Given the description of an element on the screen output the (x, y) to click on. 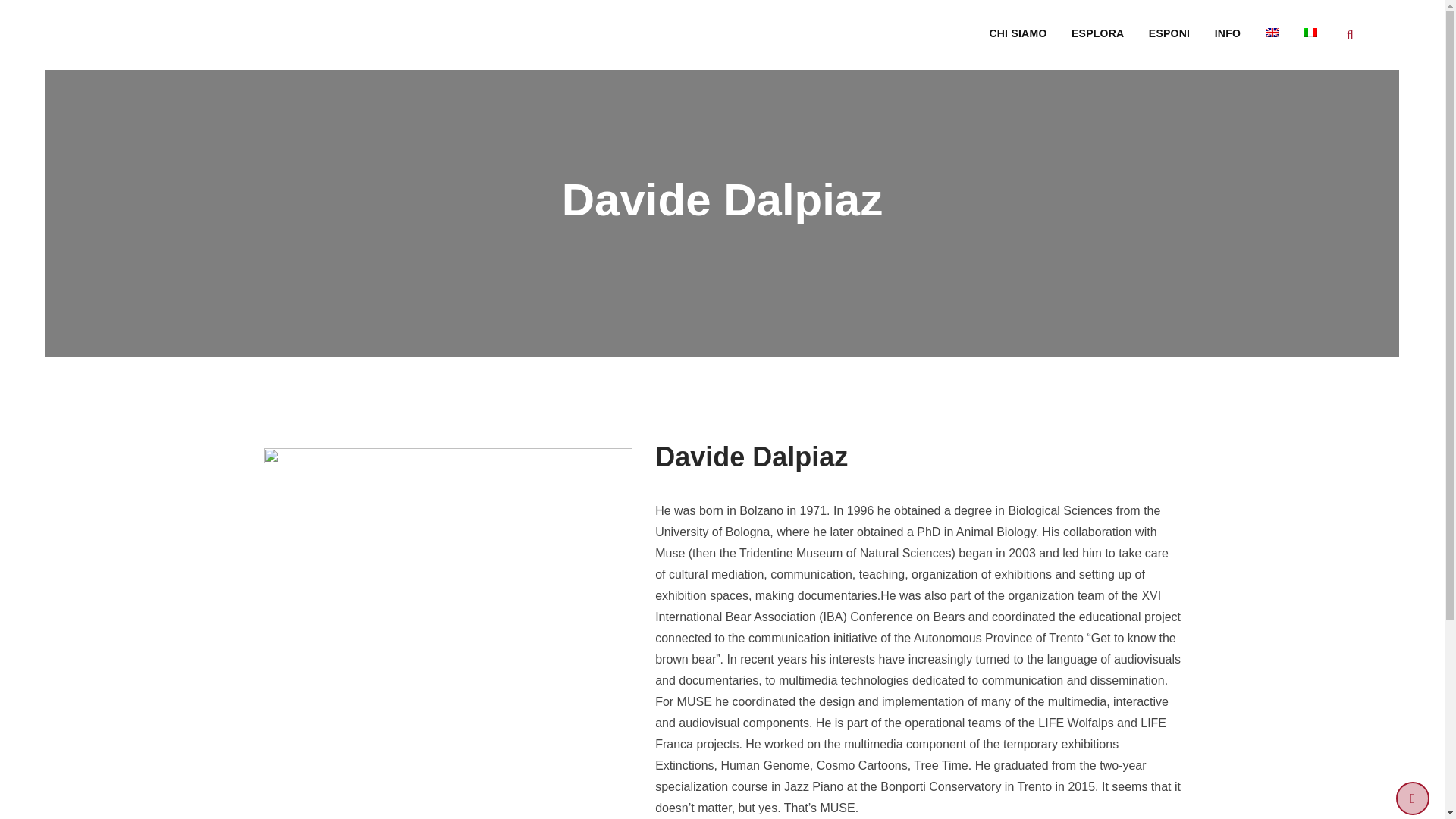
CHI SIAMO (1017, 33)
ESPONI (1168, 33)
ESPLORA (1097, 33)
